Given the description of an element on the screen output the (x, y) to click on. 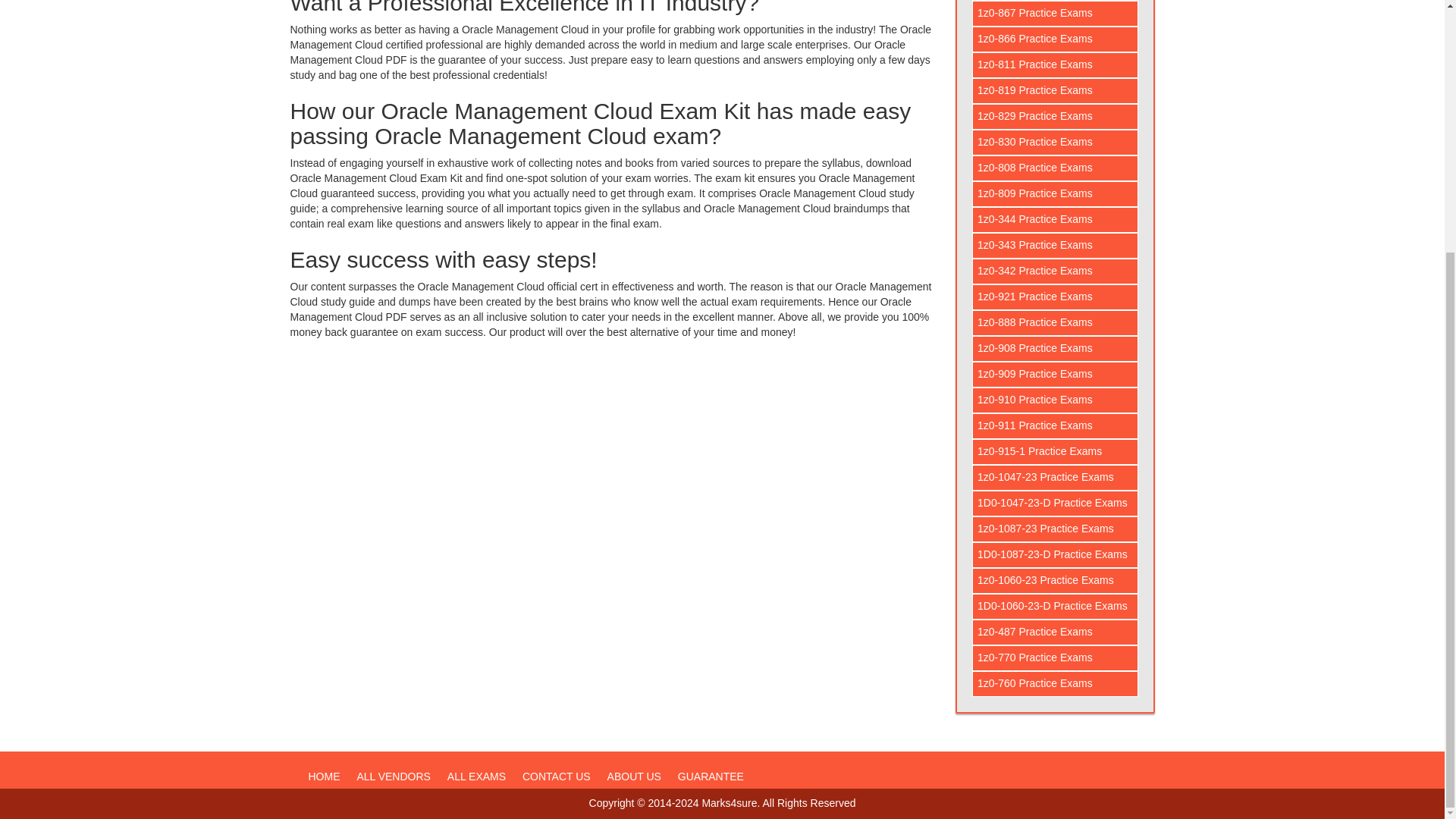
1z0-1047-23 Practice Exams (1055, 477)
1z0-1087-23 Practice Exams (1055, 529)
1z0-888 Practice Exams (1055, 322)
1z0-866 (1055, 39)
1z0-867 Practice Exams (1055, 13)
1z0-909 Practice Exams (1055, 374)
1z0-819 (1055, 90)
1z0-830 (1055, 142)
1z0-344 Practice Exams (1055, 219)
1z0-342 (1055, 271)
1z0-811 Practice Exams (1055, 64)
1z0-867 (1055, 13)
1z0-343 (1055, 245)
1z0-830 Practice Exams (1055, 142)
1D0-1087-23-D Practice Exams (1055, 555)
